Given the description of an element on the screen output the (x, y) to click on. 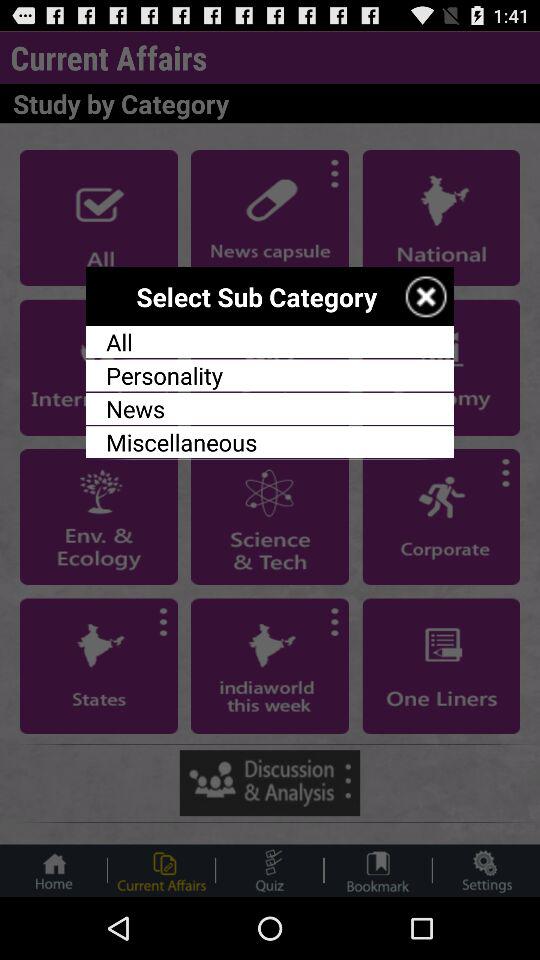
select all icon (269, 342)
